Given the description of an element on the screen output the (x, y) to click on. 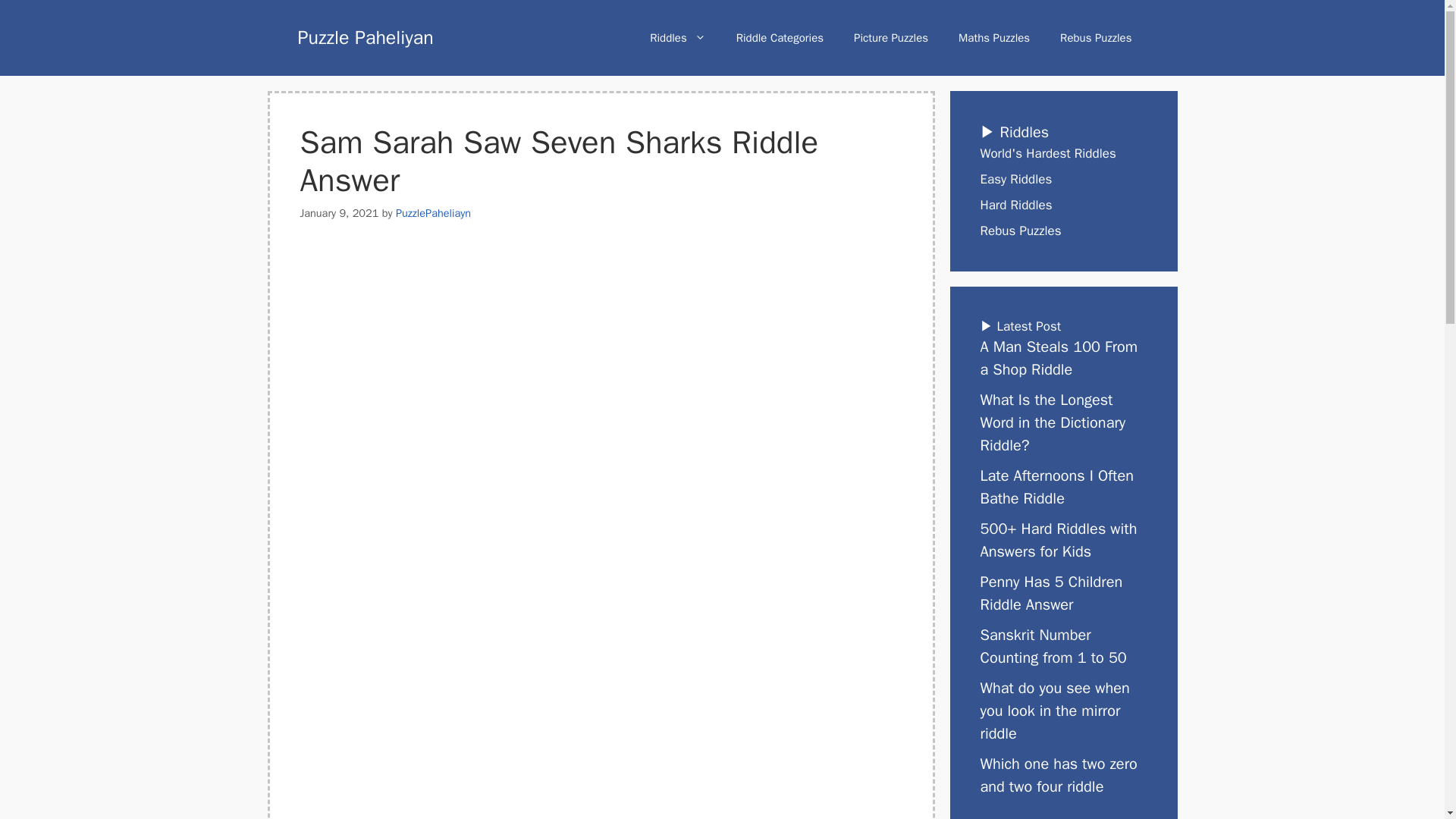
Puzzle Paheliyan (364, 37)
Maths Puzzles (994, 37)
Riddles (677, 37)
Picture Puzzles (890, 37)
View all posts by PuzzlePaheliayn (433, 213)
Rebus Puzzles (1096, 37)
PuzzlePaheliayn (433, 213)
Riddle Categories (779, 37)
